Given the description of an element on the screen output the (x, y) to click on. 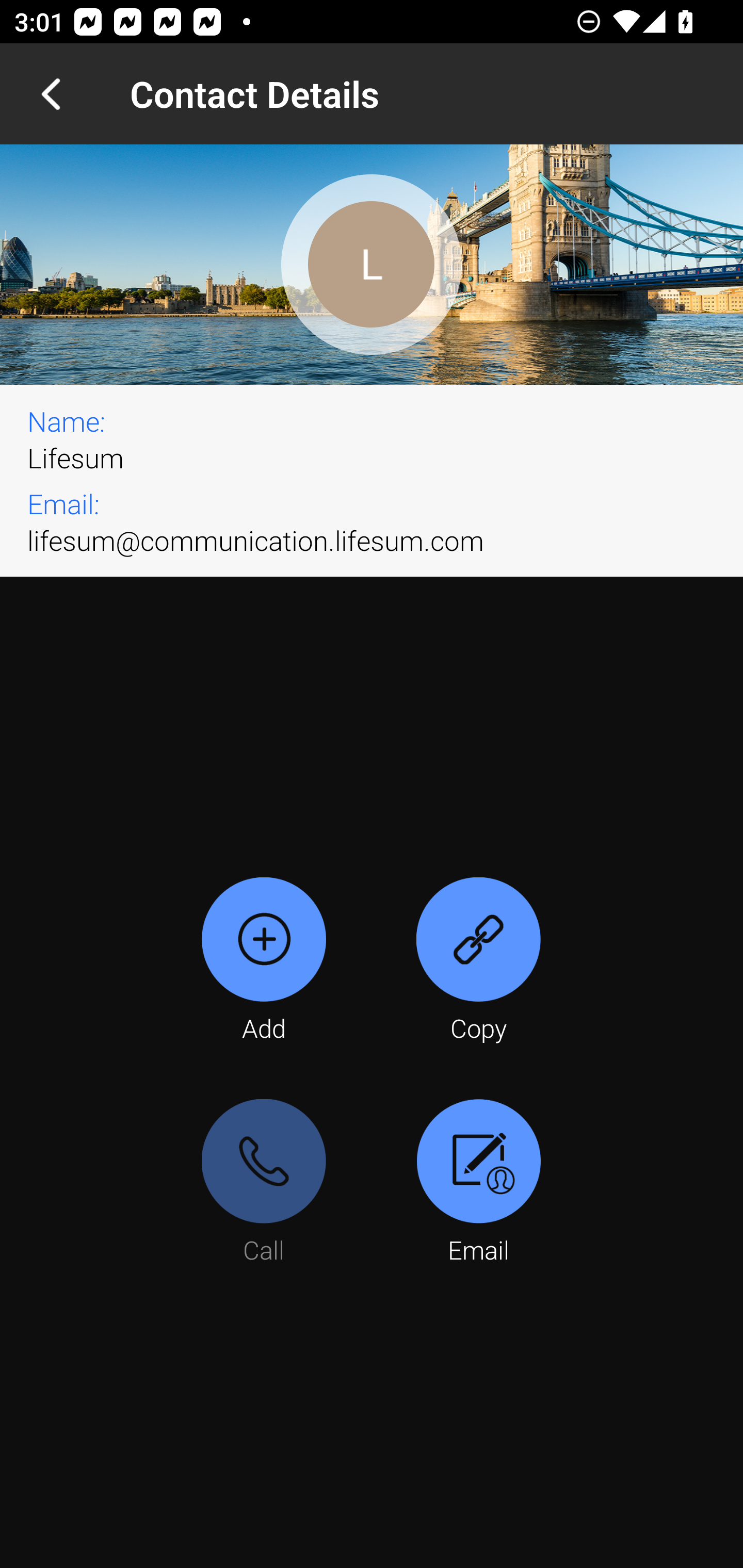
Navigate up (50, 93)
Add (264, 961)
Copy (478, 961)
Call (264, 1182)
Email (478, 1182)
